Given the description of an element on the screen output the (x, y) to click on. 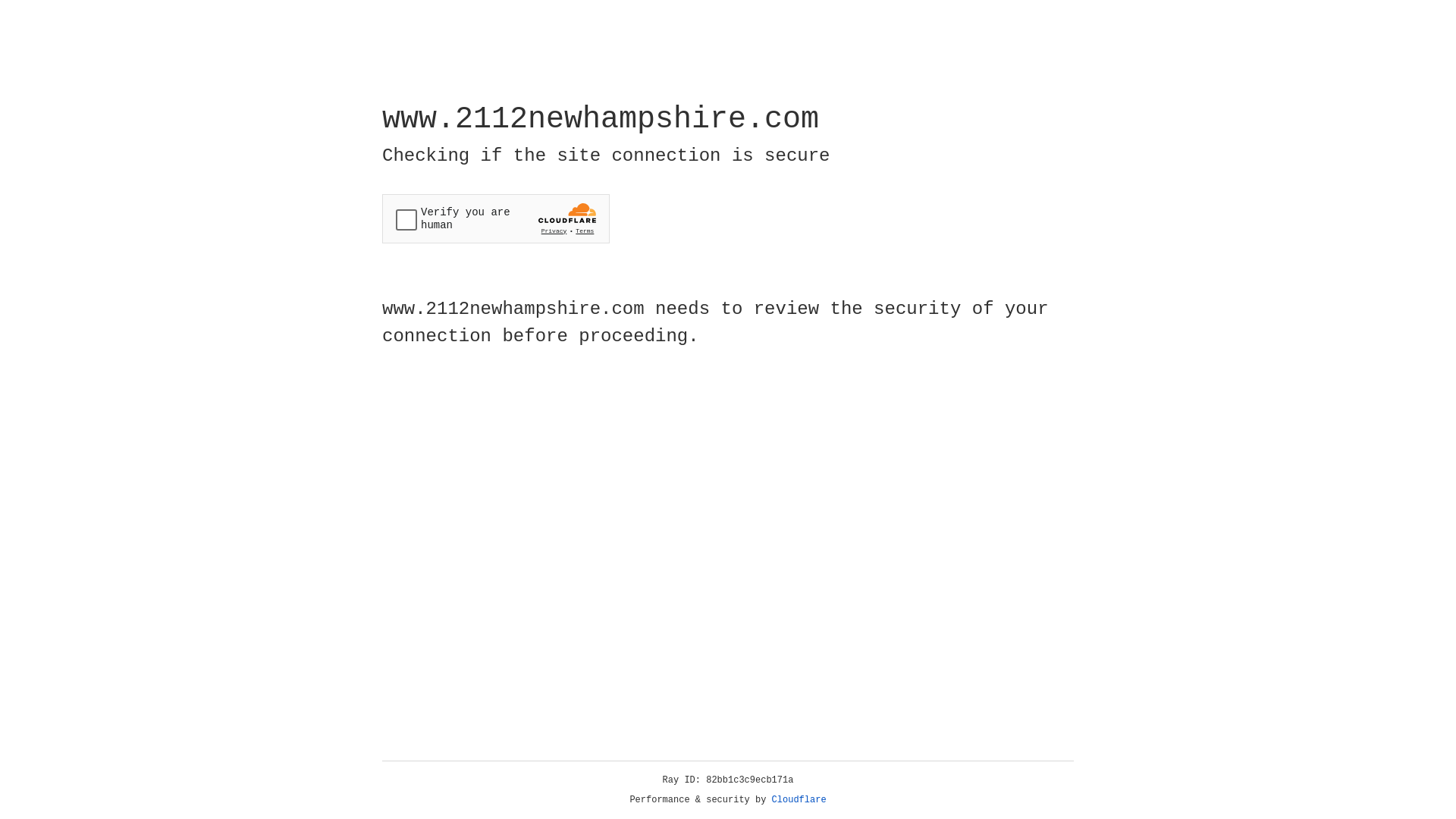
Widget containing a Cloudflare security challenge Element type: hover (495, 218)
Cloudflare Element type: text (798, 799)
